Given the description of an element on the screen output the (x, y) to click on. 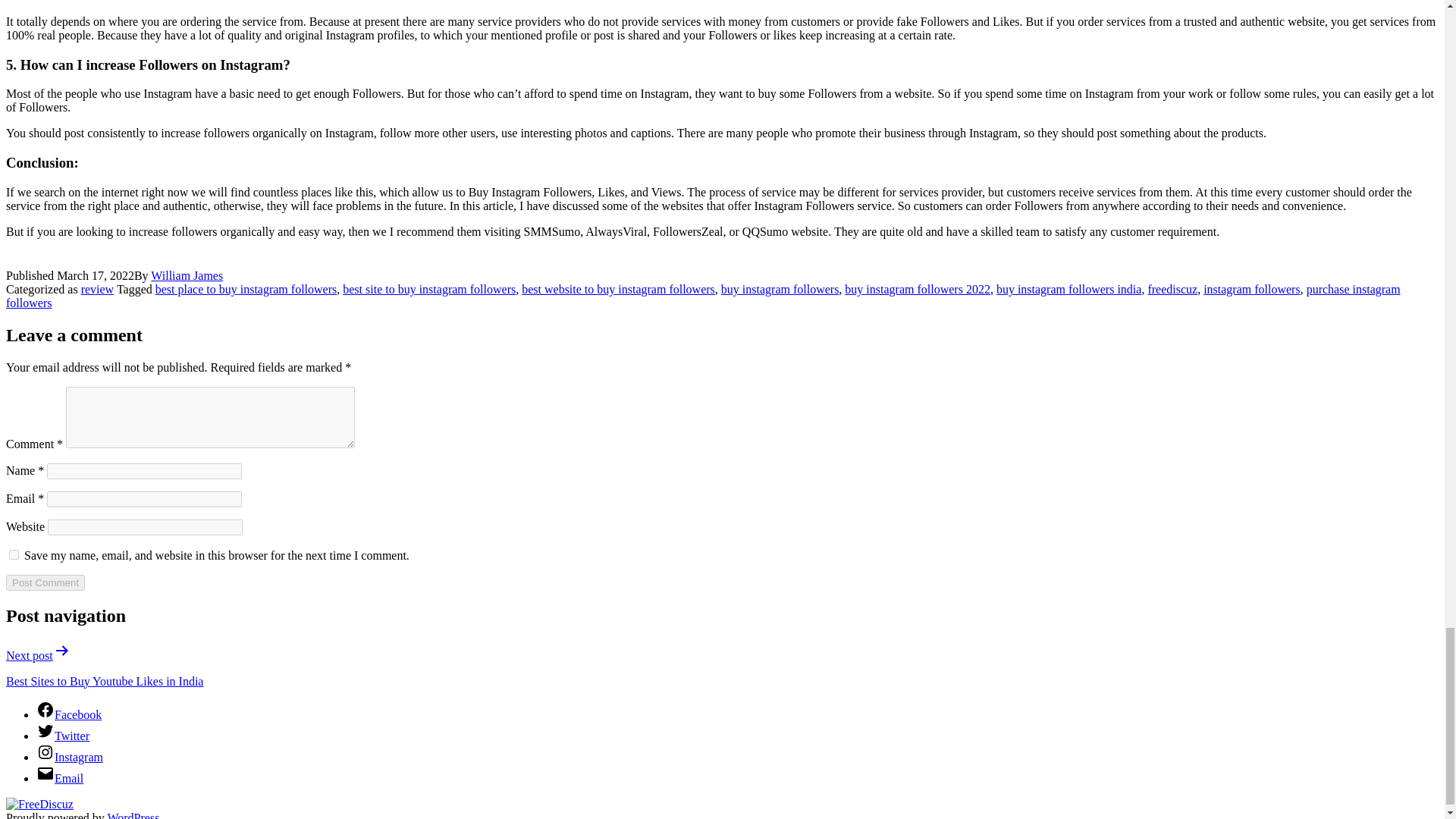
William James (186, 275)
best site to buy instagram followers (428, 288)
best place to buy instagram followers (246, 288)
review (98, 288)
yes (13, 554)
Post Comment (44, 582)
